Given the description of an element on the screen output the (x, y) to click on. 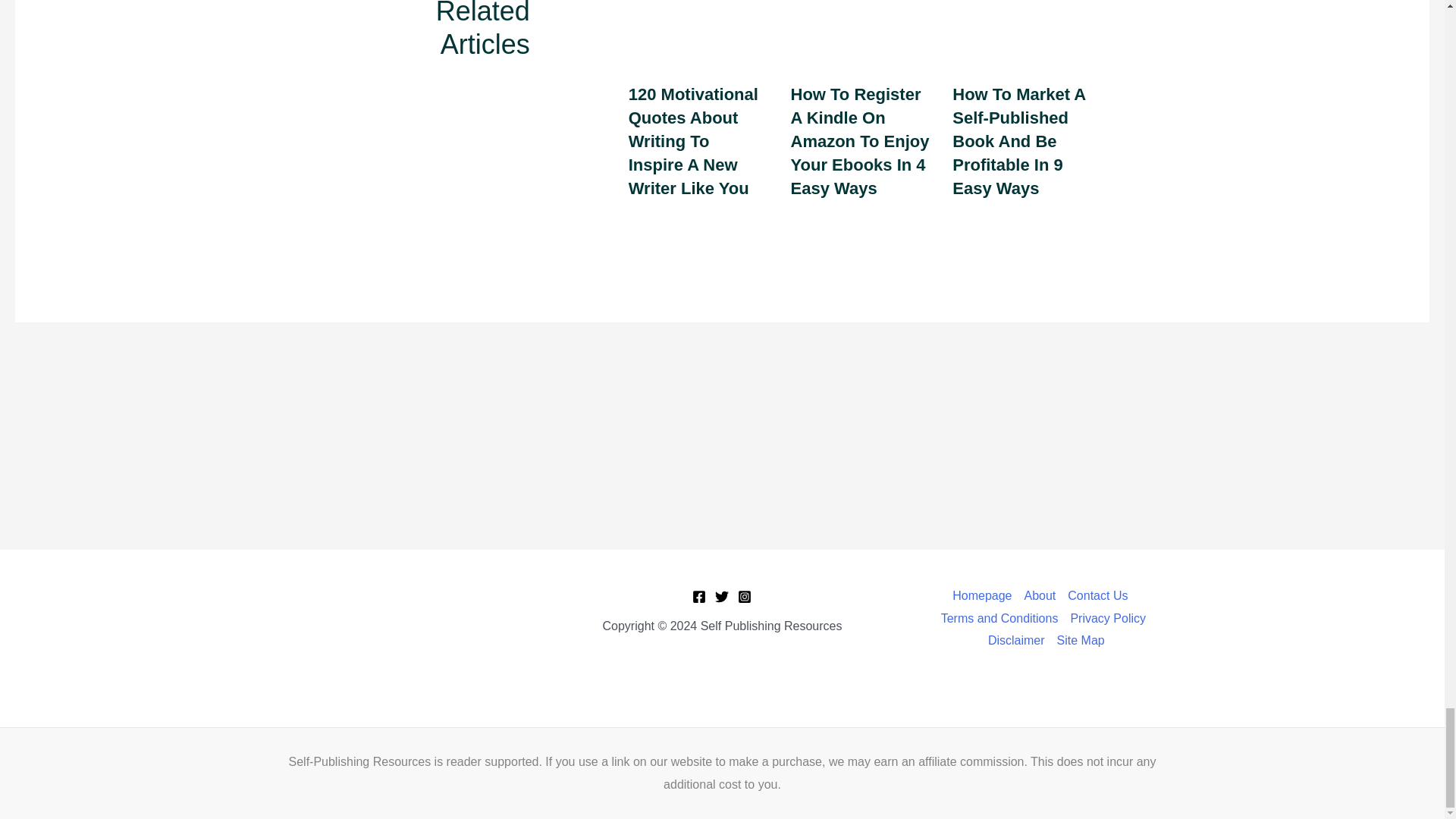
Contact Us (1097, 595)
Privacy Policy (1107, 618)
Terms and Conditions (999, 618)
About (1039, 595)
Disclaimer (1016, 640)
Homepage (984, 595)
Site Map (1078, 640)
